Given the description of an element on the screen output the (x, y) to click on. 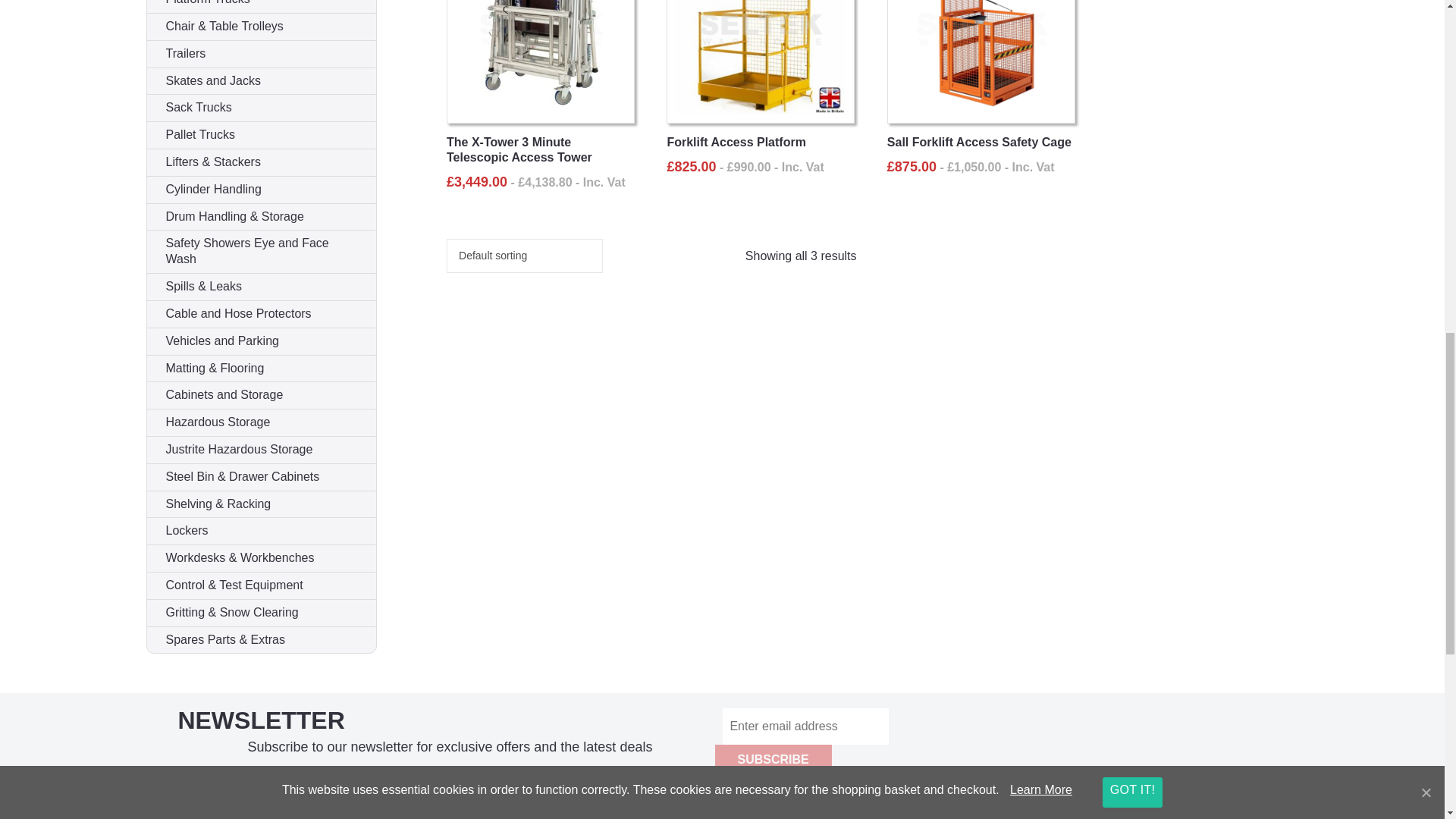
Subscribe (772, 759)
